Given the description of an element on the screen output the (x, y) to click on. 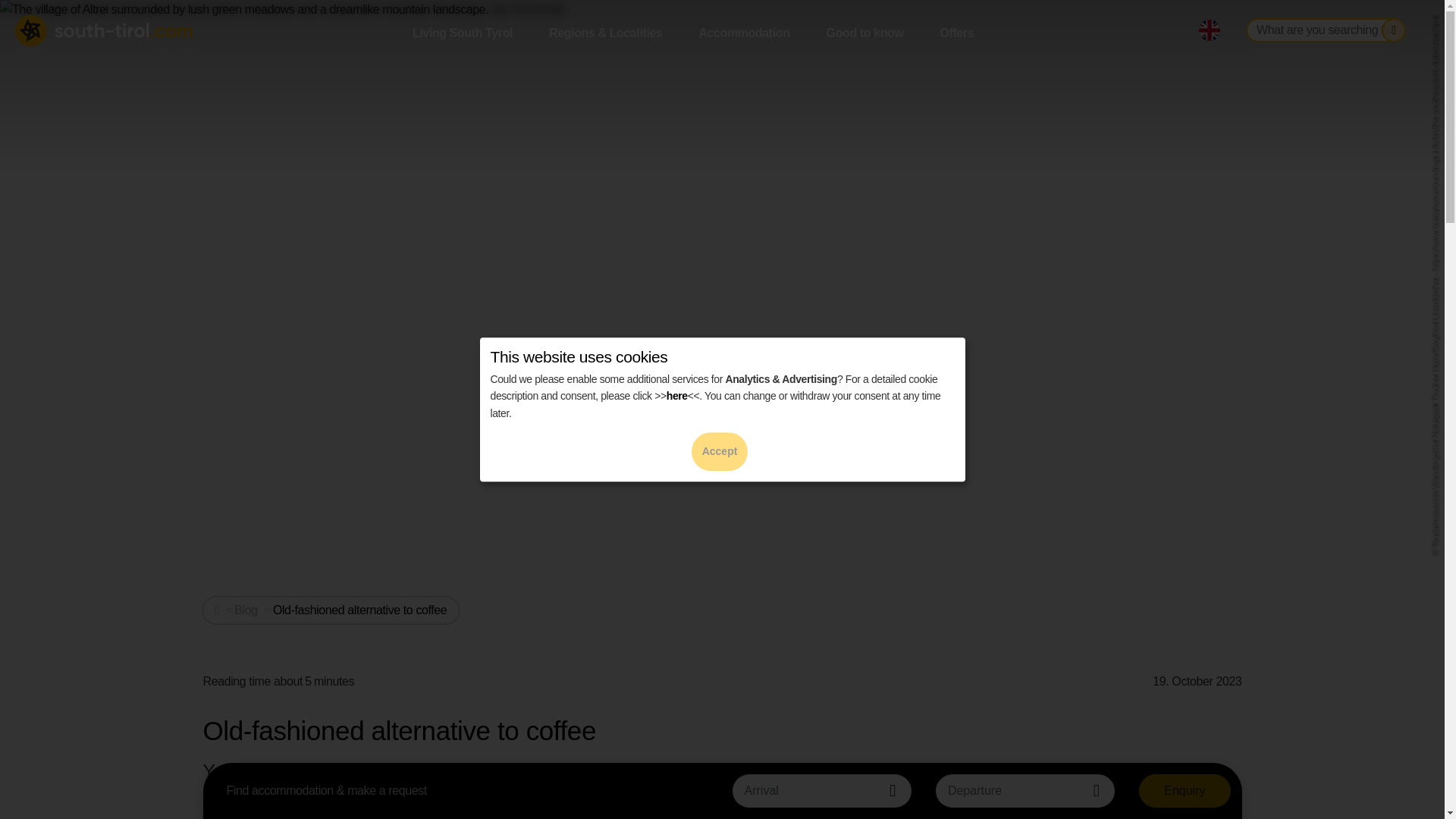
Altrei (639, 794)
Holidays in South Tyrol (104, 30)
